Given the description of an element on the screen output the (x, y) to click on. 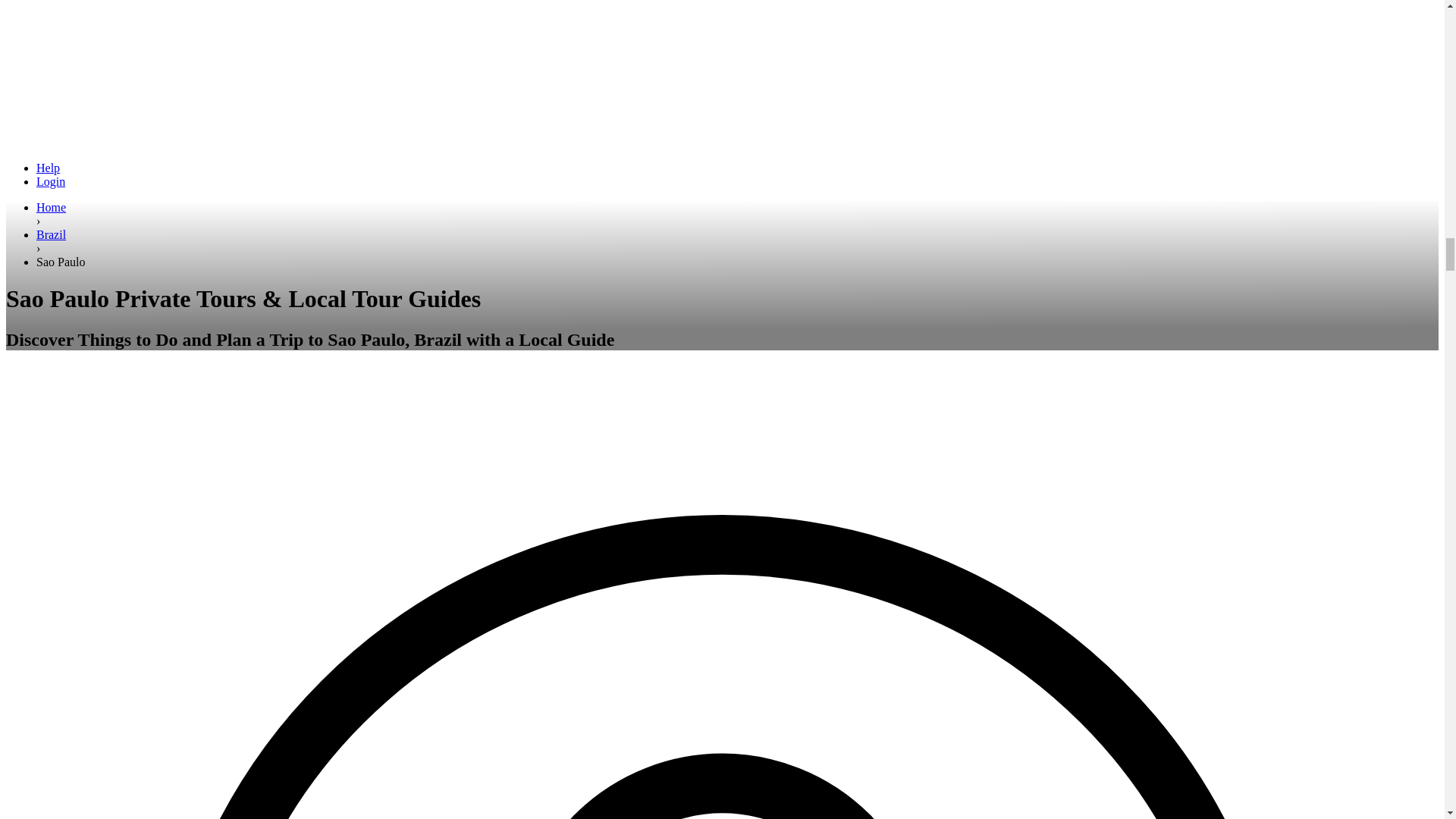
Brazil (50, 234)
Help (47, 167)
Login (50, 181)
Home (50, 206)
